Given the description of an element on the screen output the (x, y) to click on. 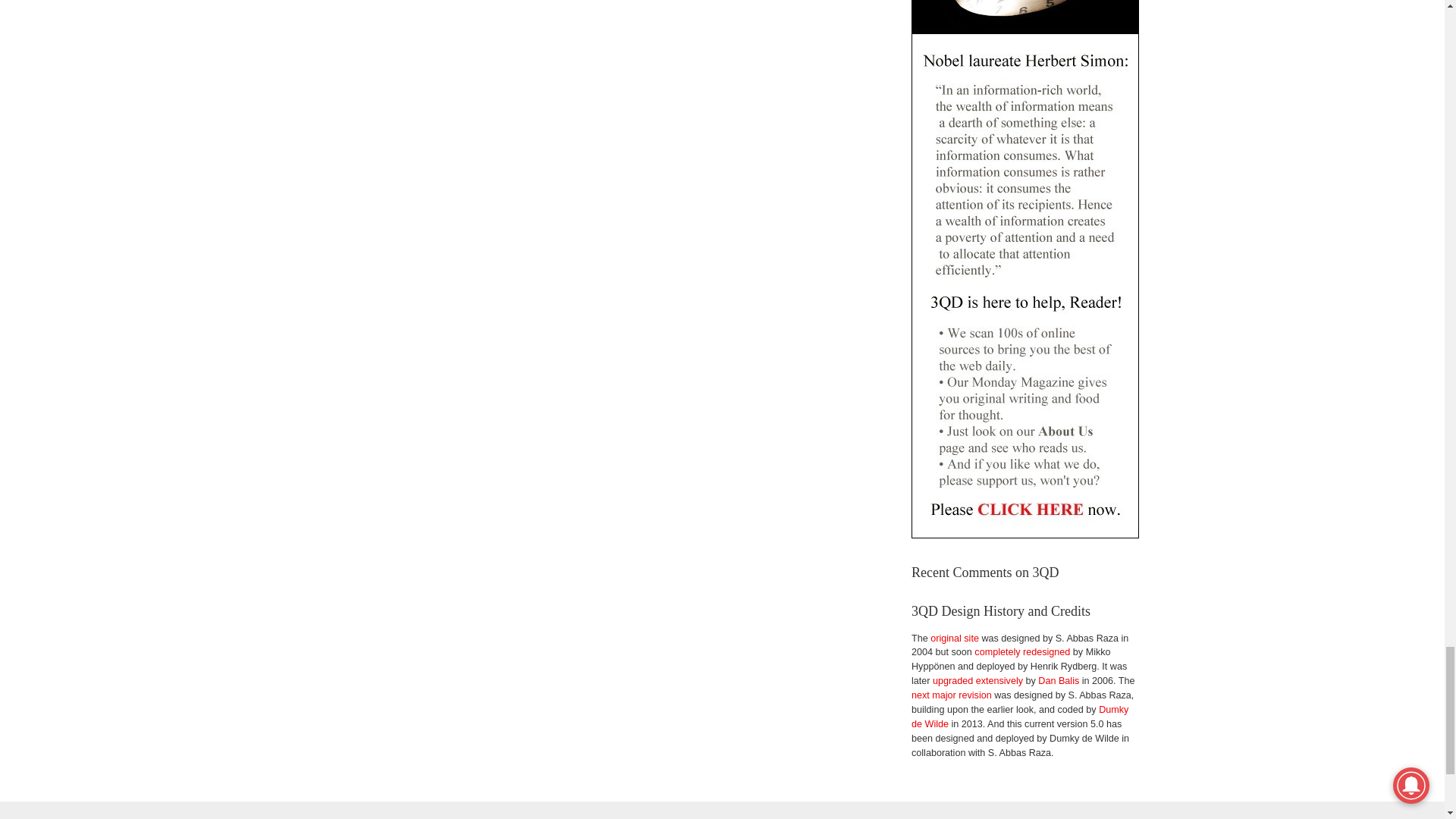
original site (954, 638)
